Given the description of an element on the screen output the (x, y) to click on. 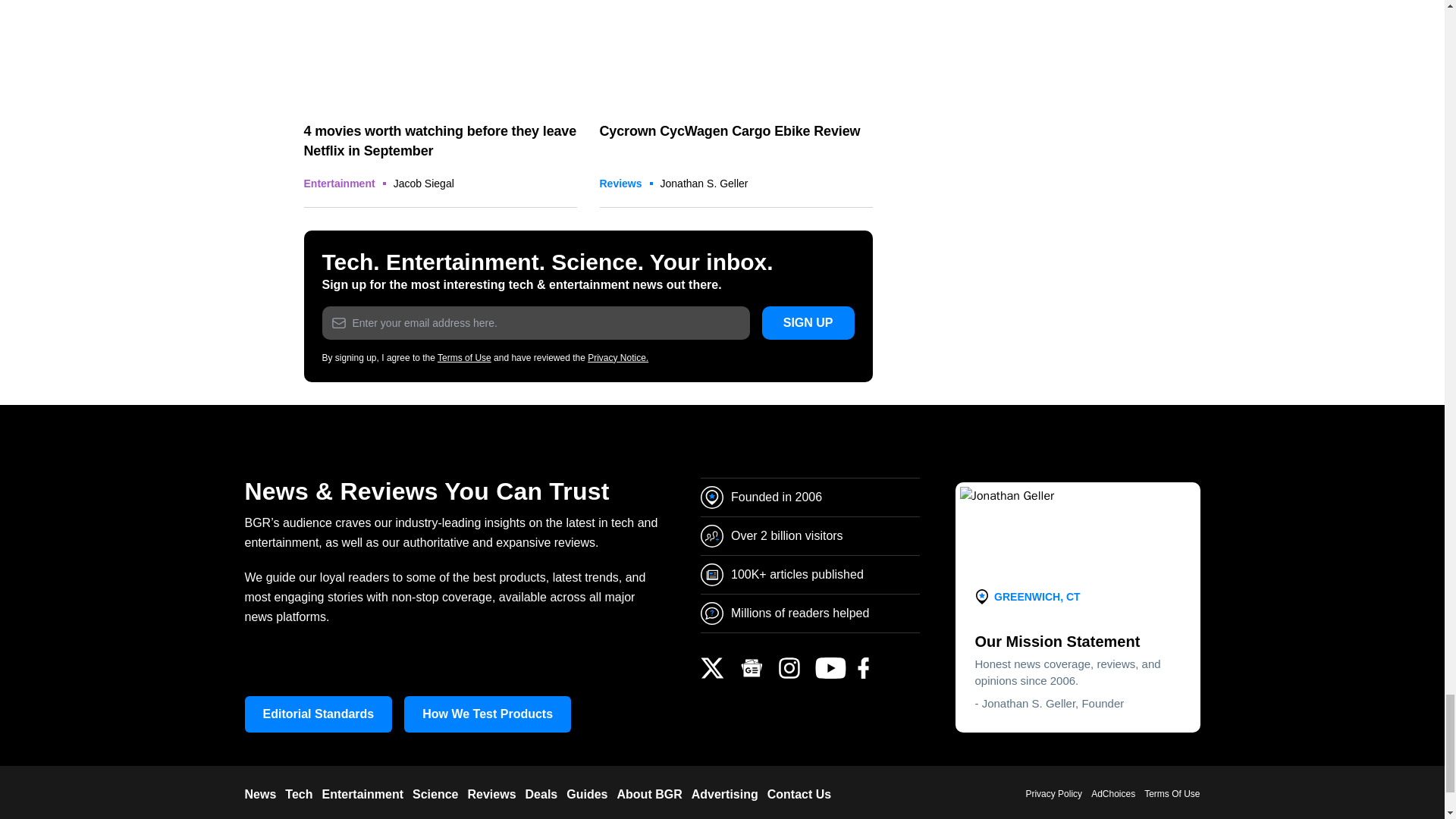
Posts by Jacob Siegal (423, 183)
Posts by Jonathan S. Geller (704, 183)
Netflix movies (439, 53)
